Given the description of an element on the screen output the (x, y) to click on. 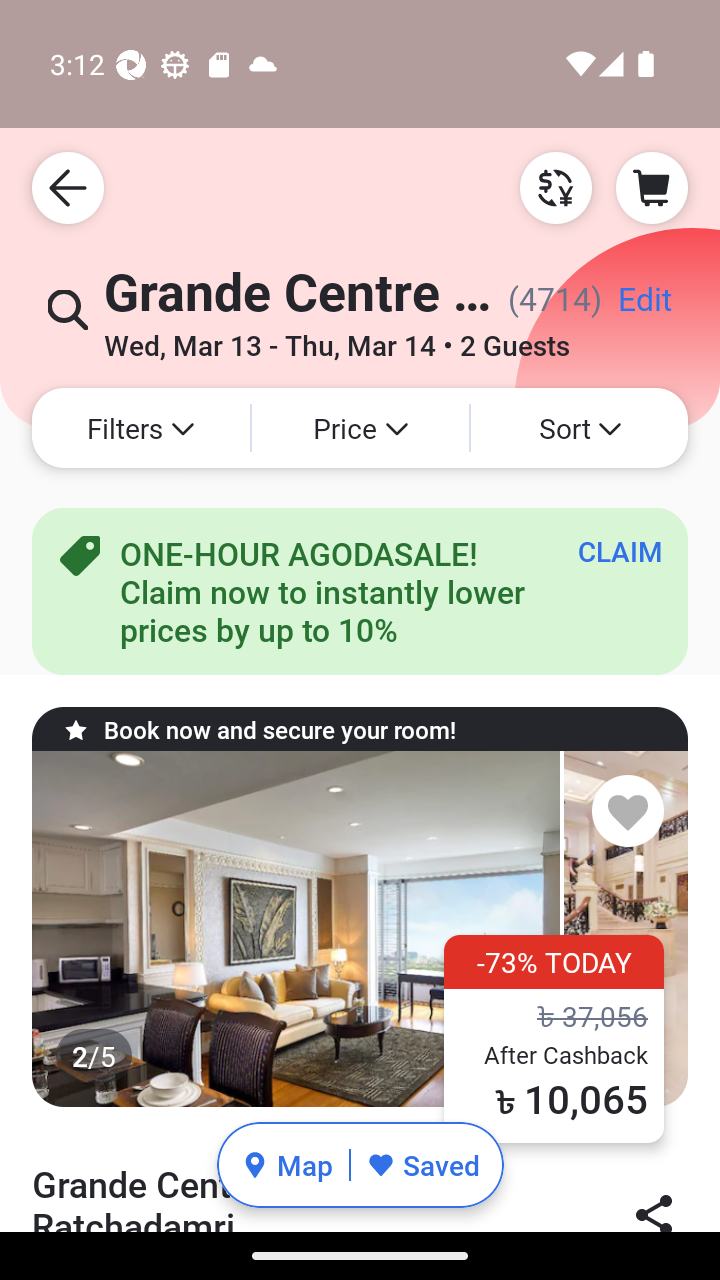
Edit (644, 306)
Wed, Mar 13 - Thu, Mar 14 • 2 Guests (336, 338)
Filters (140, 428)
Price (359, 428)
Sort (579, 428)
CLAIM (620, 551)
2/5 (359, 929)
-73% TODAY ‪৳ 37,056 After Cashback ‪৳ 10,065 (553, 1038)
Map Saved (359, 1165)
